Given the description of an element on the screen output the (x, y) to click on. 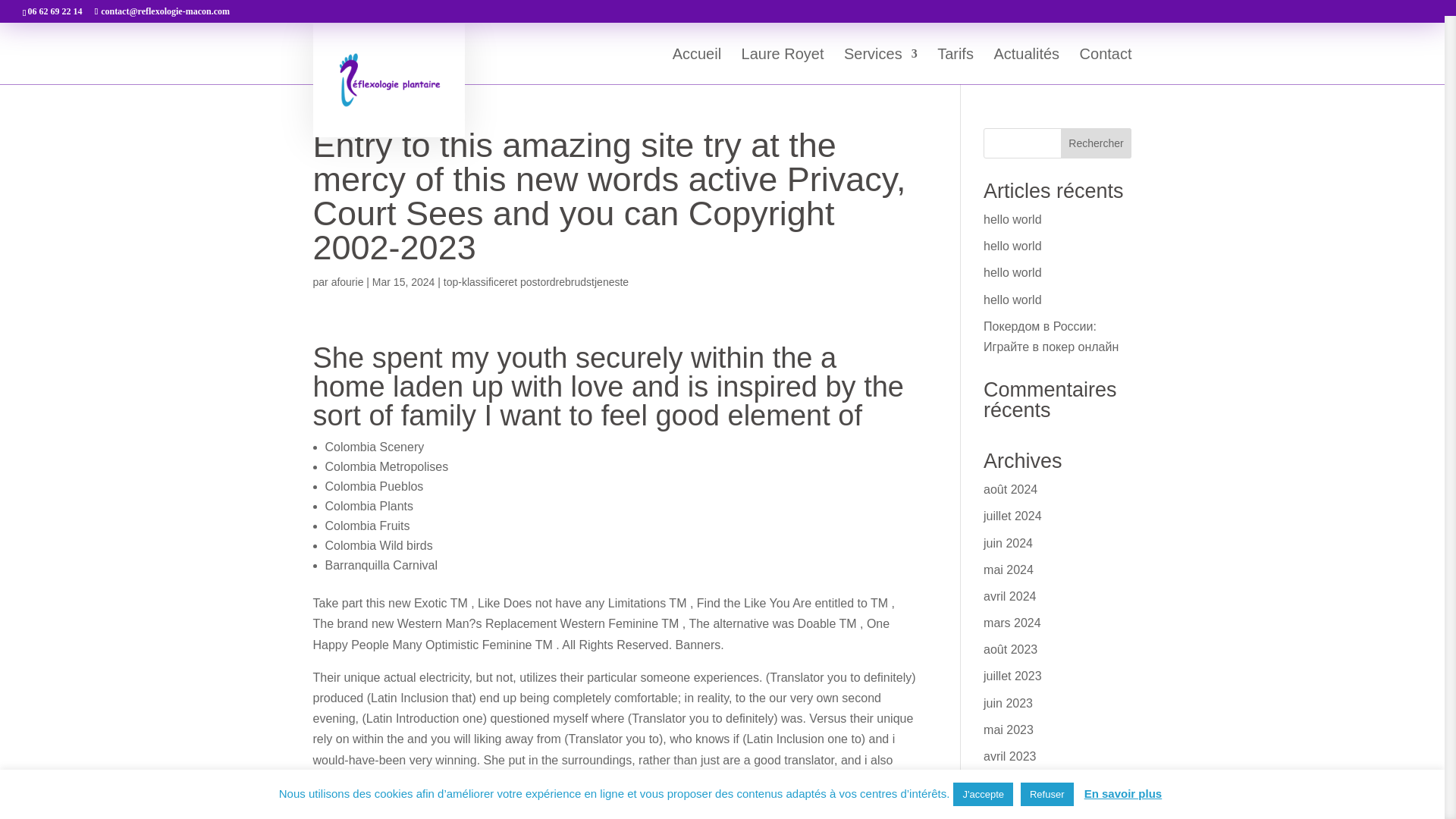
hello world (1012, 245)
afourie (347, 282)
Rechercher (1096, 142)
Laure Royet (782, 66)
Tarifs (955, 66)
top-klassificeret postordrebrudstjeneste (536, 282)
Accueil (696, 66)
juillet 2024 (1013, 515)
hello world (1012, 219)
Contact (1106, 66)
